Given the description of an element on the screen output the (x, y) to click on. 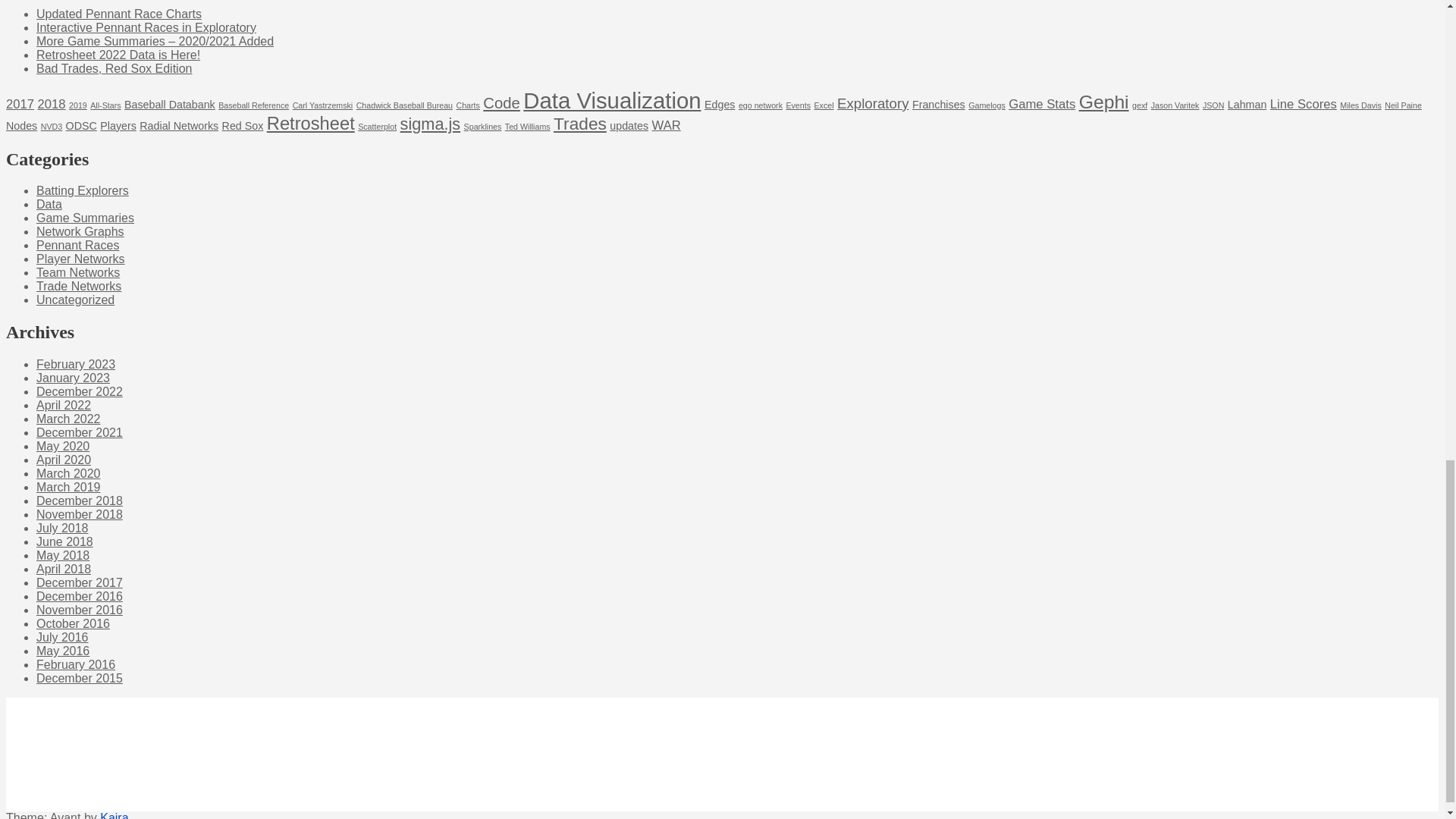
2018 (51, 104)
Interactive Pennant Races in Exploratory (146, 27)
Updated Pennant Race Charts (119, 13)
2017 (19, 104)
Retrosheet 2022 Data is Here! (118, 54)
Bad Trades, Red Sox Edition (114, 68)
